Given the description of an element on the screen output the (x, y) to click on. 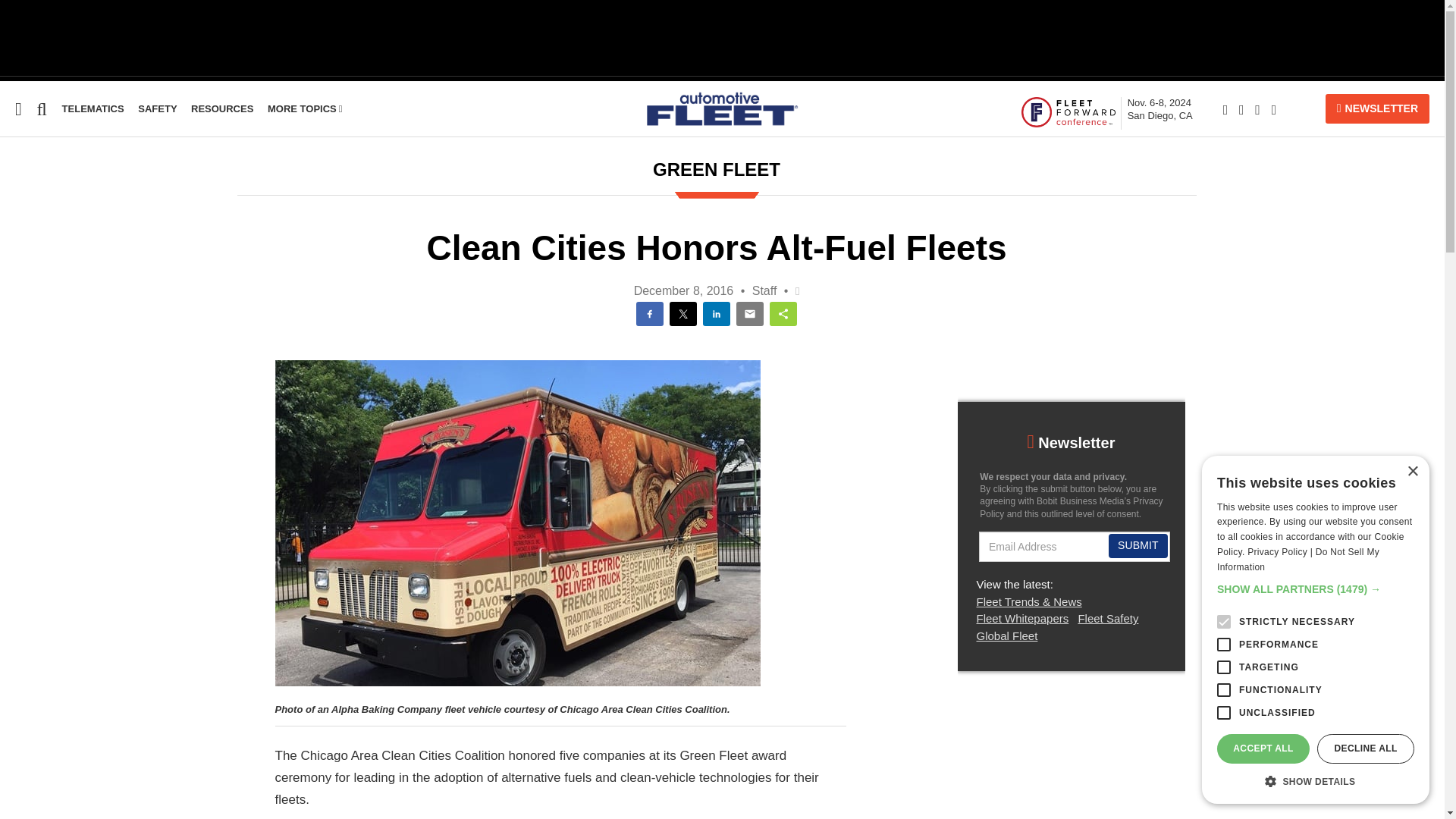
Fuel (11, 264)
Home (16, 206)
SAFETY (157, 108)
Fleet Forward Conference (1068, 111)
Global Fleet (34, 293)
Nov. 6-8, 2024 (1159, 109)
Fuel (11, 264)
Telematics (31, 323)
RESOURCES (221, 108)
MORE TOPICS (304, 108)
Maintenance (37, 351)
Home (16, 206)
TELEMATICS (92, 108)
Global Fleet (34, 293)
